Given the description of an element on the screen output the (x, y) to click on. 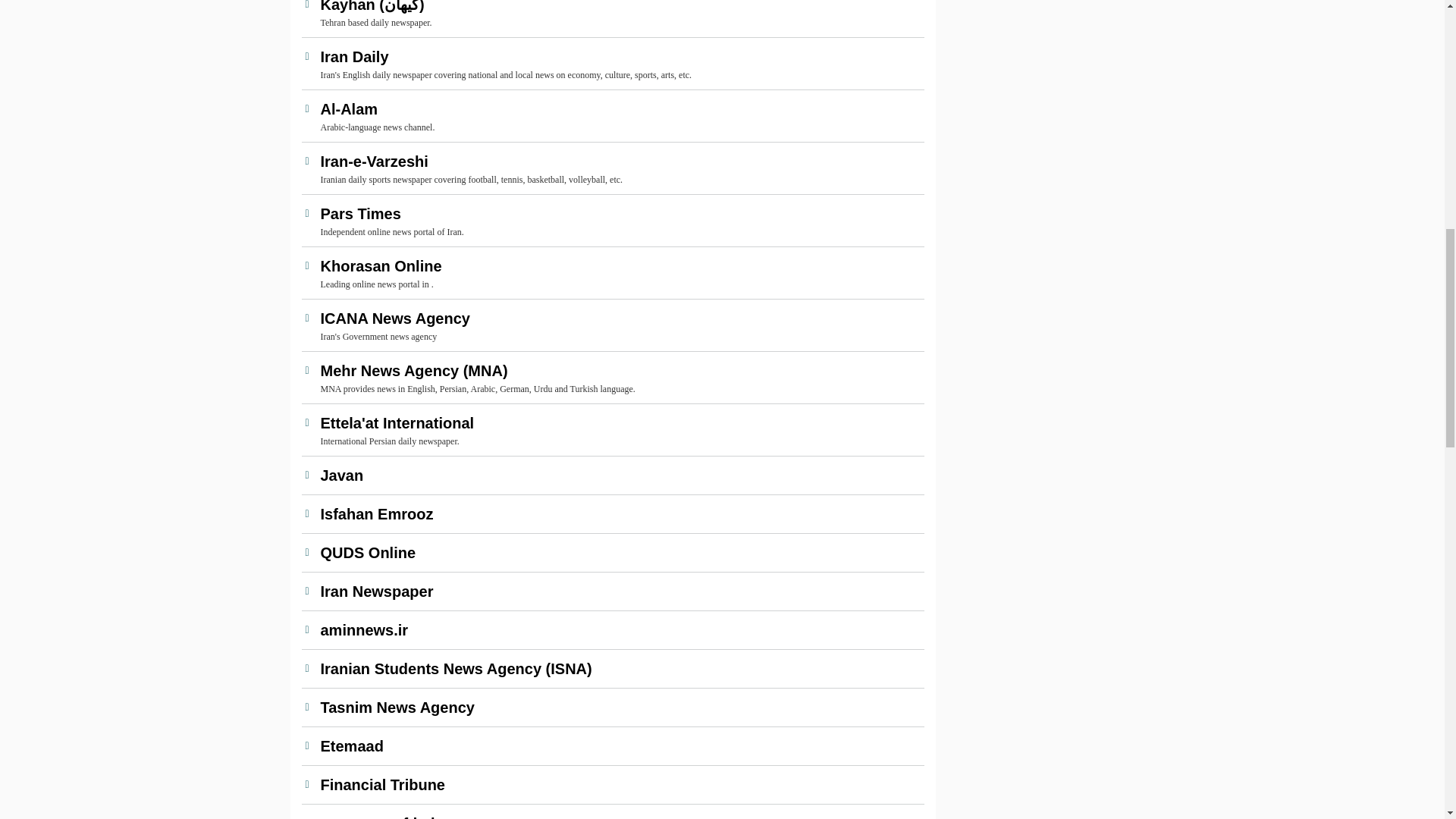
Ettela'at International (618, 422)
Iran-e-Varzeshi (618, 160)
Etemaad (618, 745)
Iran Daily (618, 56)
Iran Newspaper (618, 590)
Khorasan Online (618, 265)
ICANA News Agency (618, 318)
Javan (618, 475)
QUDS Online (618, 552)
Tasnim News Agency (618, 707)
Isfahan Emrooz (618, 513)
Al-Alam (618, 108)
Financial Tribune (618, 784)
Pars Times (618, 213)
Kayhan (618, 7)
